Given the description of an element on the screen output the (x, y) to click on. 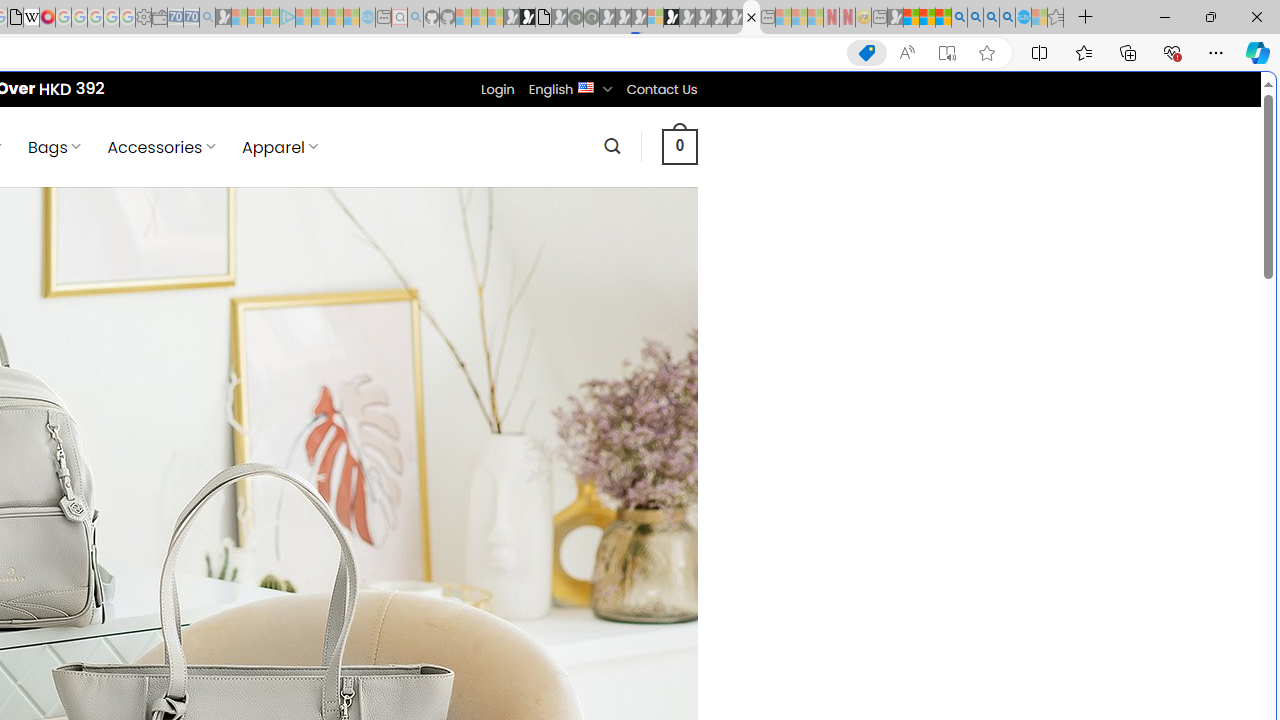
Login (497, 89)
Home | Sky Blue Bikes - Sky Blue Bikes - Sleeping (367, 17)
Tabs you've opened (276, 265)
Close split screen (844, 102)
Bing AI - Search (959, 17)
